Given the description of an element on the screen output the (x, y) to click on. 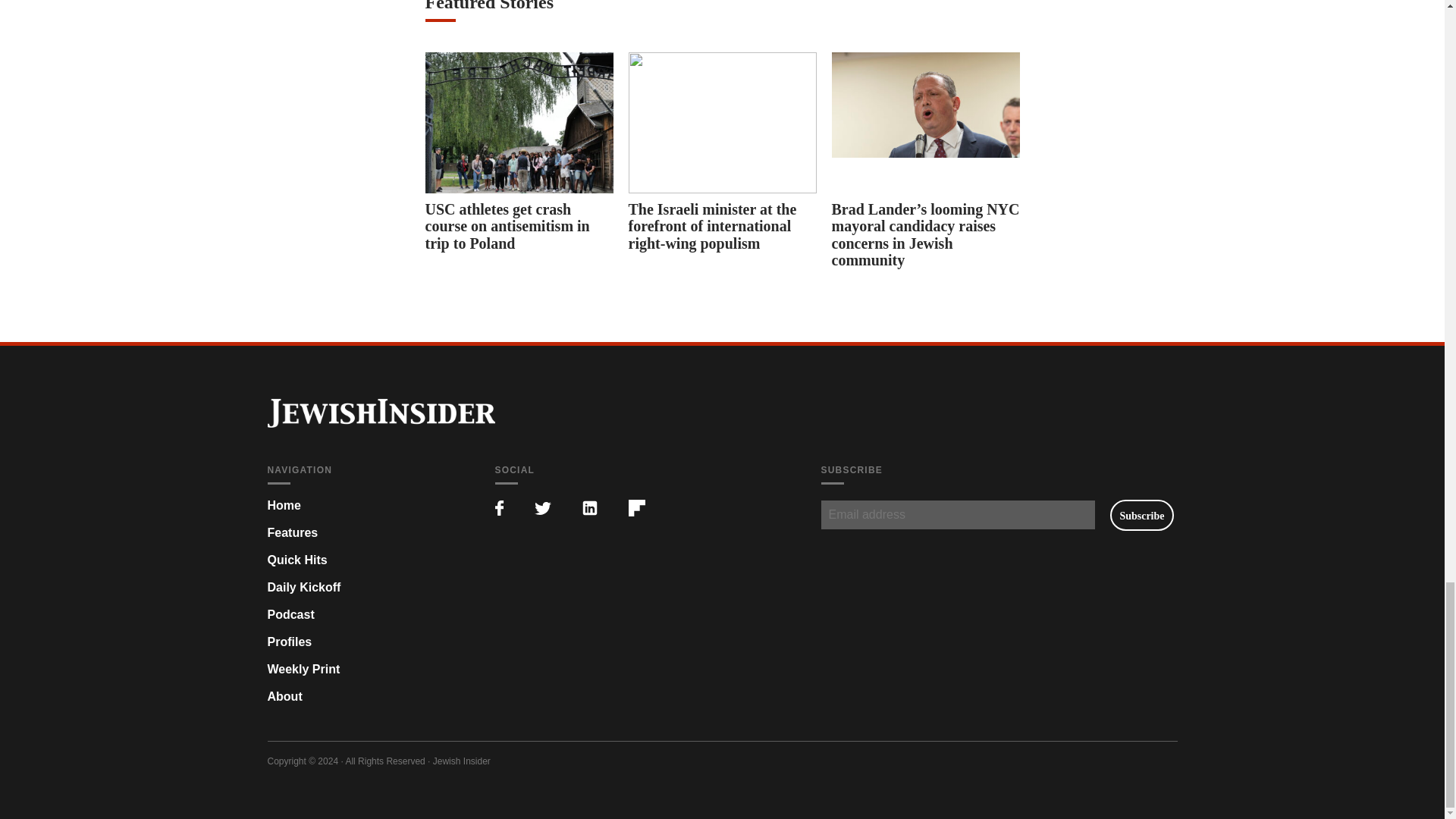
Quick Hits (296, 559)
Features (291, 532)
Podcast (290, 614)
Profiles (288, 641)
Daily Kickoff (303, 586)
Home (282, 504)
